Given the description of an element on the screen output the (x, y) to click on. 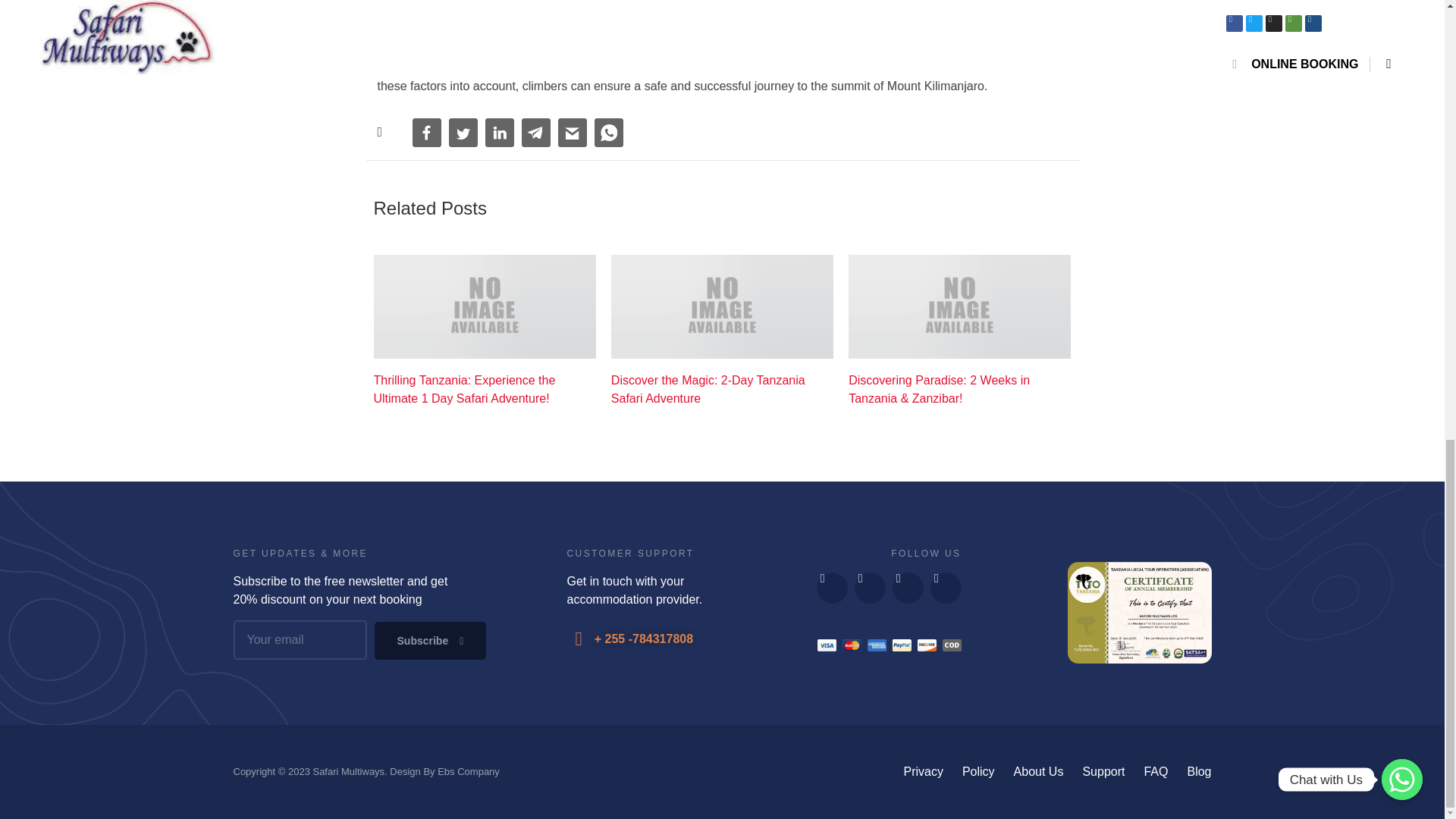
Subscribe (430, 640)
Discover the Magic: 2-Day Tanzania Safari Adventure (721, 389)
